Given the description of an element on the screen output the (x, y) to click on. 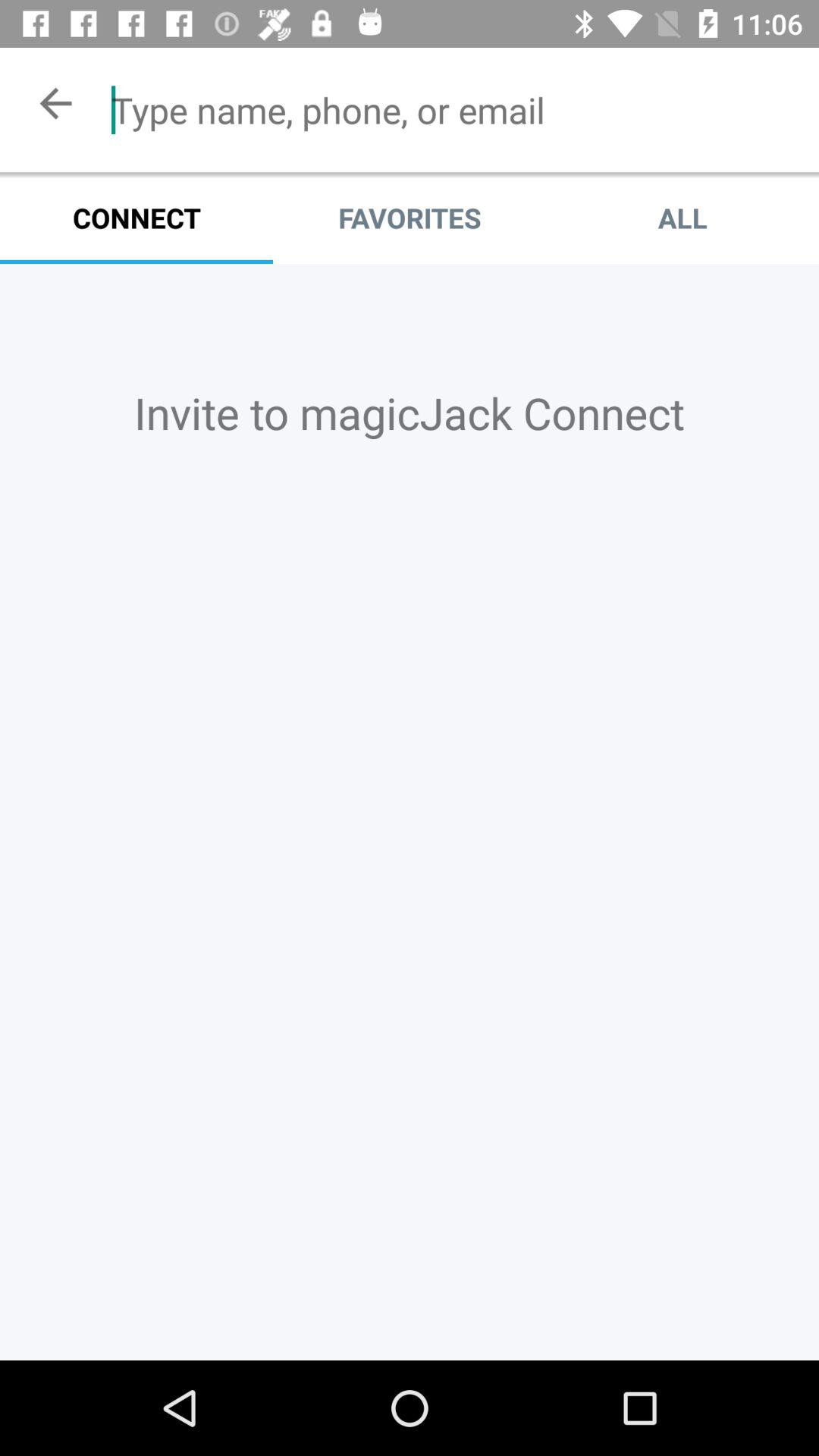
turn on item next to connect (409, 217)
